Given the description of an element on the screen output the (x, y) to click on. 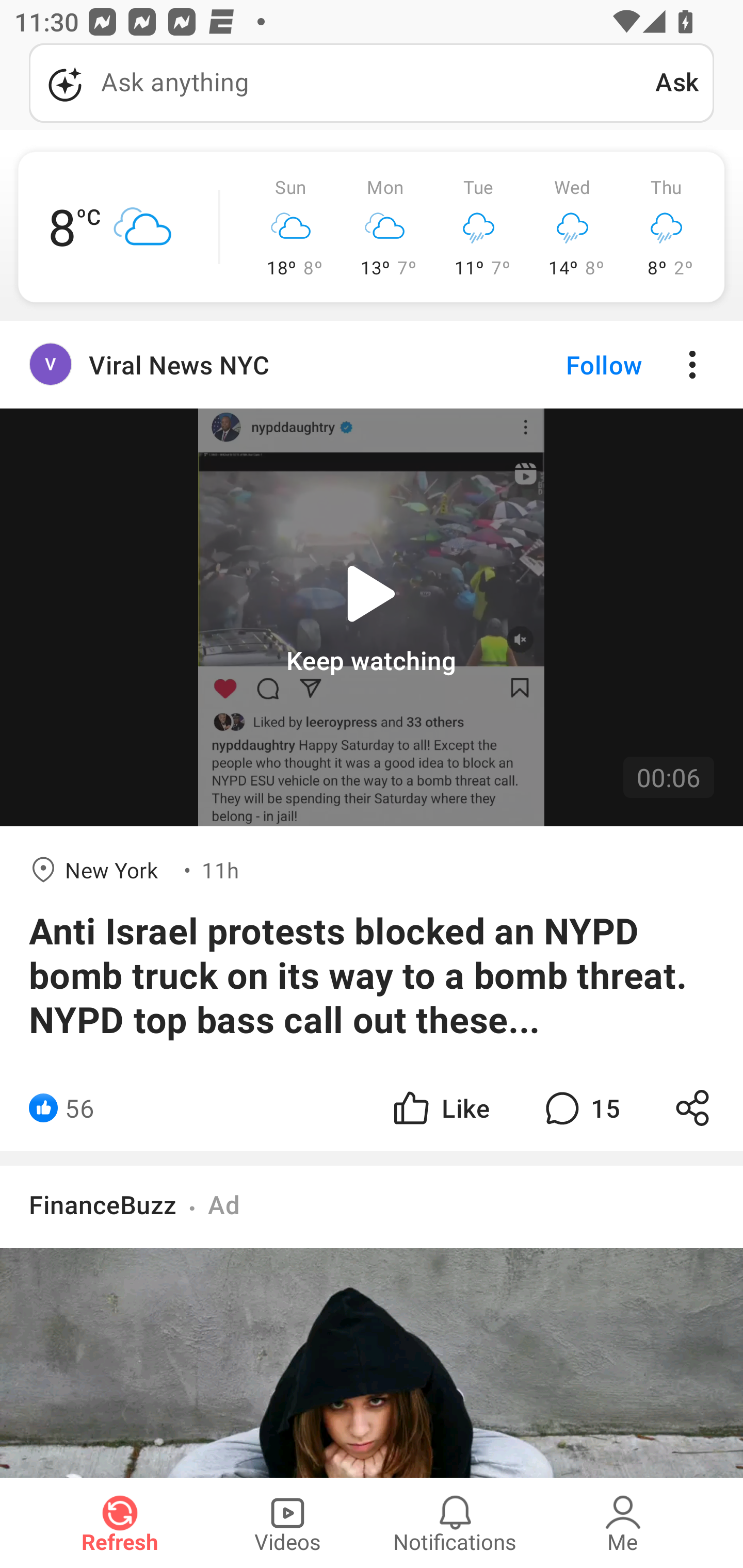
Ask anything (341, 82)
Sun 18º 8º (290, 227)
Mon 13º 7º (384, 227)
Tue 11º 7º (478, 227)
Wed 14º 8º (572, 227)
Thu 8º 2º (666, 227)
Viral News NYC  Follow (371, 365)
Follow (569, 365)
56 (79, 1107)
Like (439, 1107)
15 (579, 1107)
FinanceBuzz (102, 1203)
Videos (287, 1522)
Notifications (455, 1522)
Me (622, 1522)
